Given the description of an element on the screen output the (x, y) to click on. 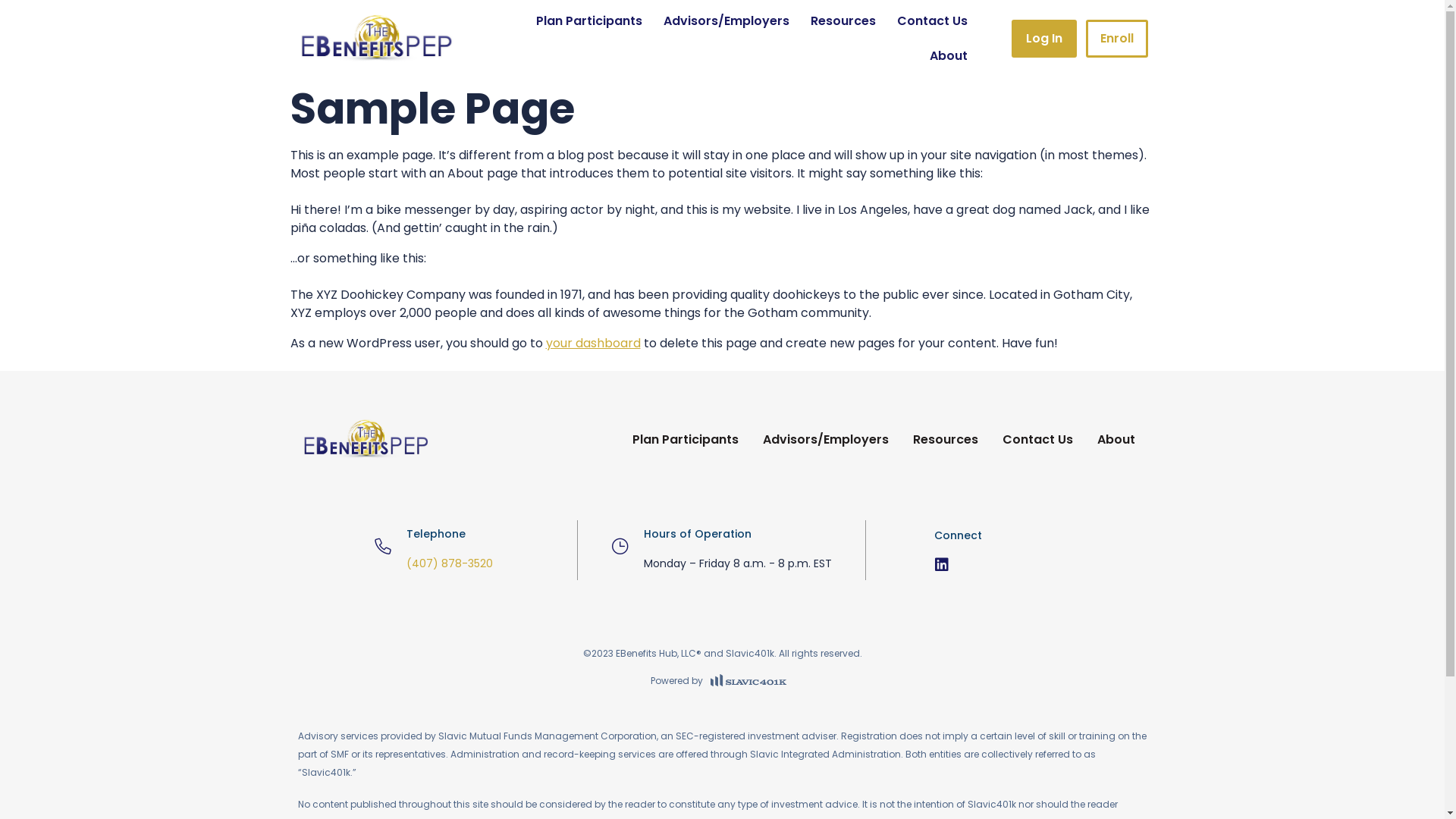
Contact Us Element type: text (1037, 439)
Advisors/Employers Element type: text (725, 20)
Log In Element type: text (1043, 37)
About Element type: text (1115, 439)
(407) 878-3520 Element type: text (449, 563)
Resources Element type: text (945, 439)
About Element type: text (948, 55)
Plan Participants Element type: text (685, 439)
Contact Us Element type: text (931, 20)
Plan Participants Element type: text (588, 20)
Advisors/Employers Element type: text (825, 439)
Enroll Element type: text (1116, 37)
your dashboard Element type: text (593, 342)
Resources Element type: text (842, 20)
